Given the description of an element on the screen output the (x, y) to click on. 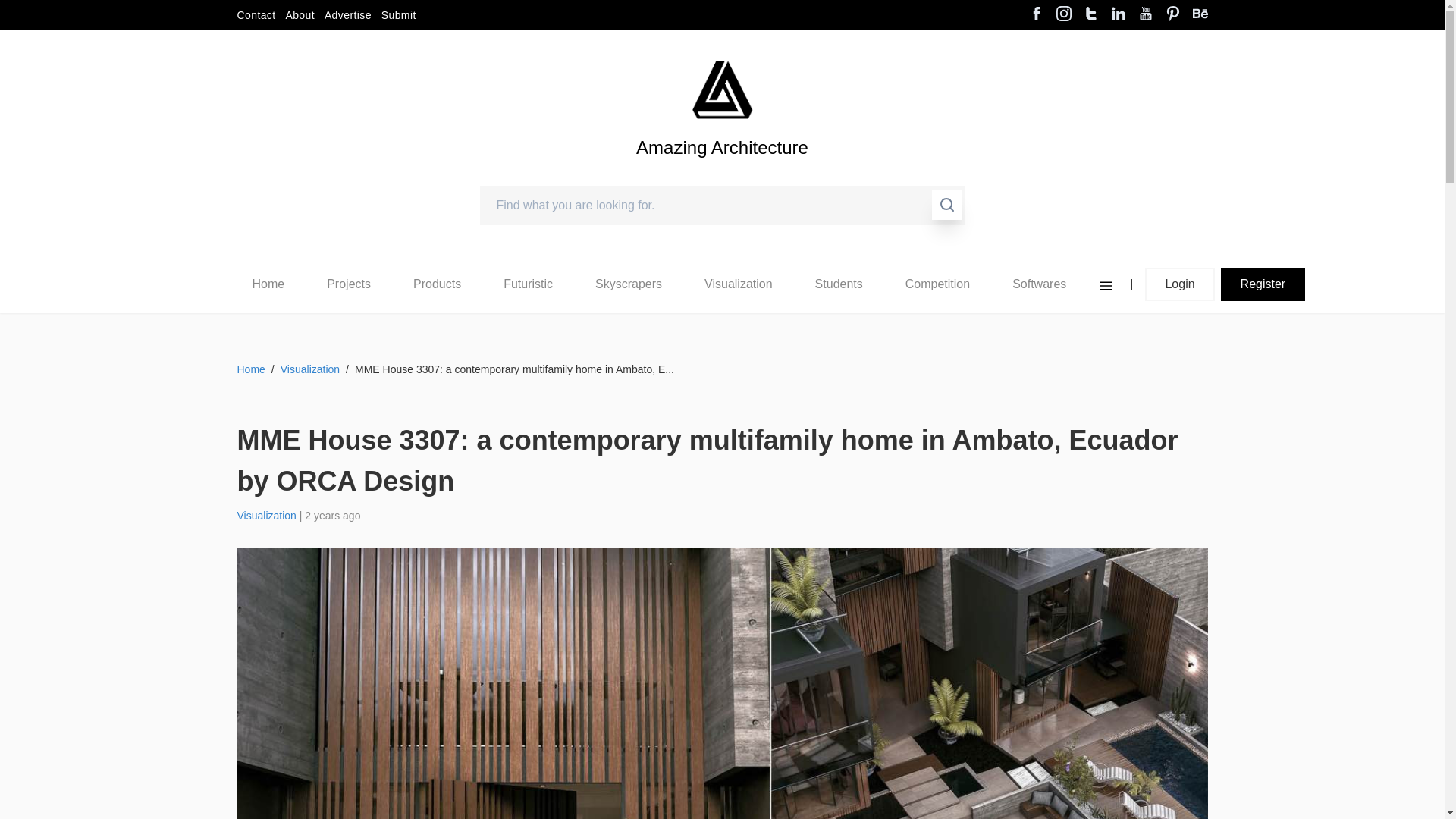
Skyscrapers (628, 283)
Home (267, 283)
Projects (348, 283)
Submit (398, 15)
About (299, 15)
Amazing Architecture (722, 173)
About us page (299, 15)
Amazing Architecture (721, 88)
Amazing Architecture (722, 173)
Contact (255, 15)
